Given the description of an element on the screen output the (x, y) to click on. 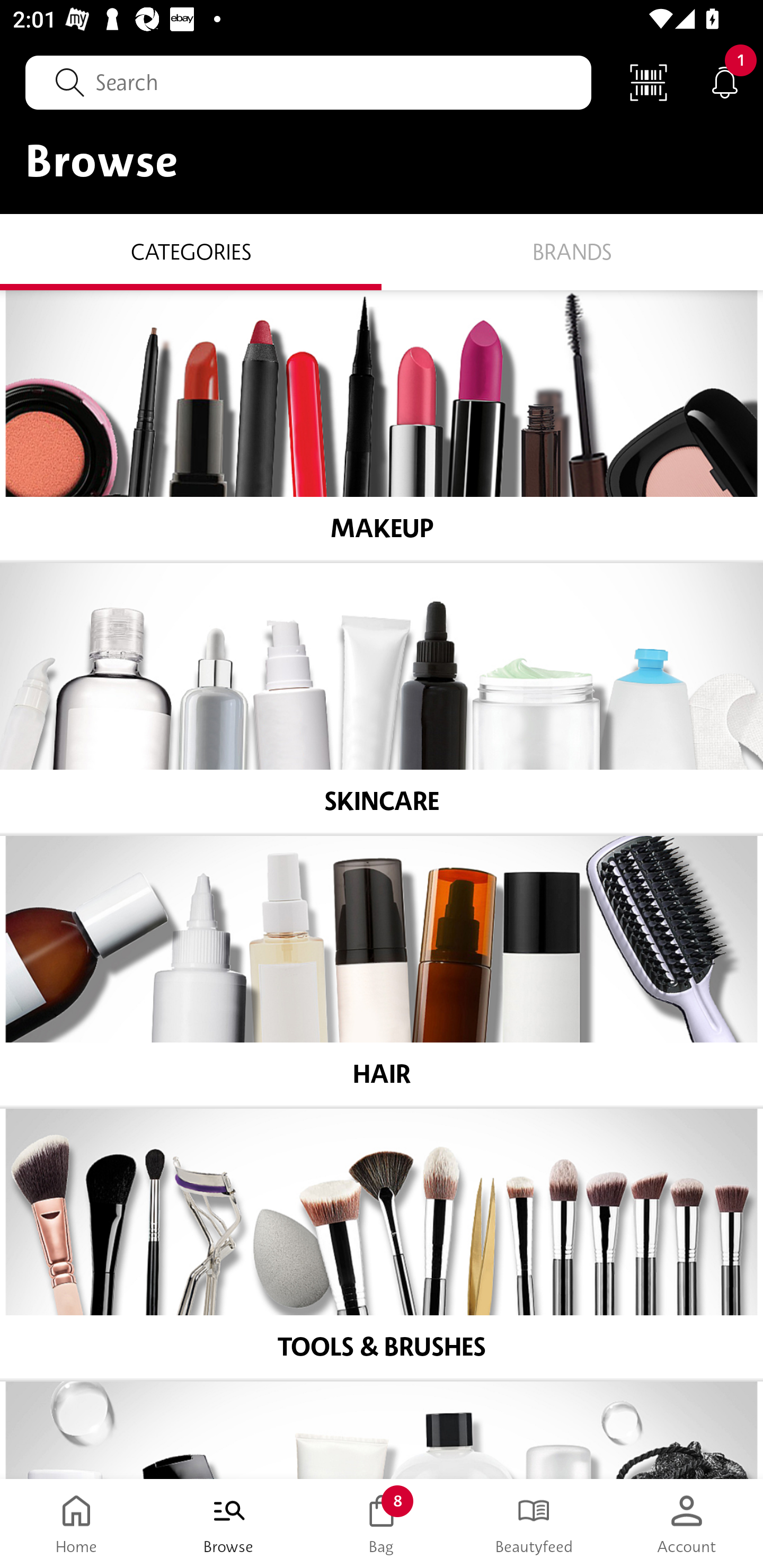
Scan Code (648, 81)
Notifications (724, 81)
Search (308, 81)
Brands BRANDS (572, 251)
MAKEUP (381, 425)
SKINCARE (381, 698)
HAIR (381, 971)
TOOLS & BRUSHES (381, 1243)
Home (76, 1523)
Bag 8 Bag (381, 1523)
Beautyfeed (533, 1523)
Account (686, 1523)
